Given the description of an element on the screen output the (x, y) to click on. 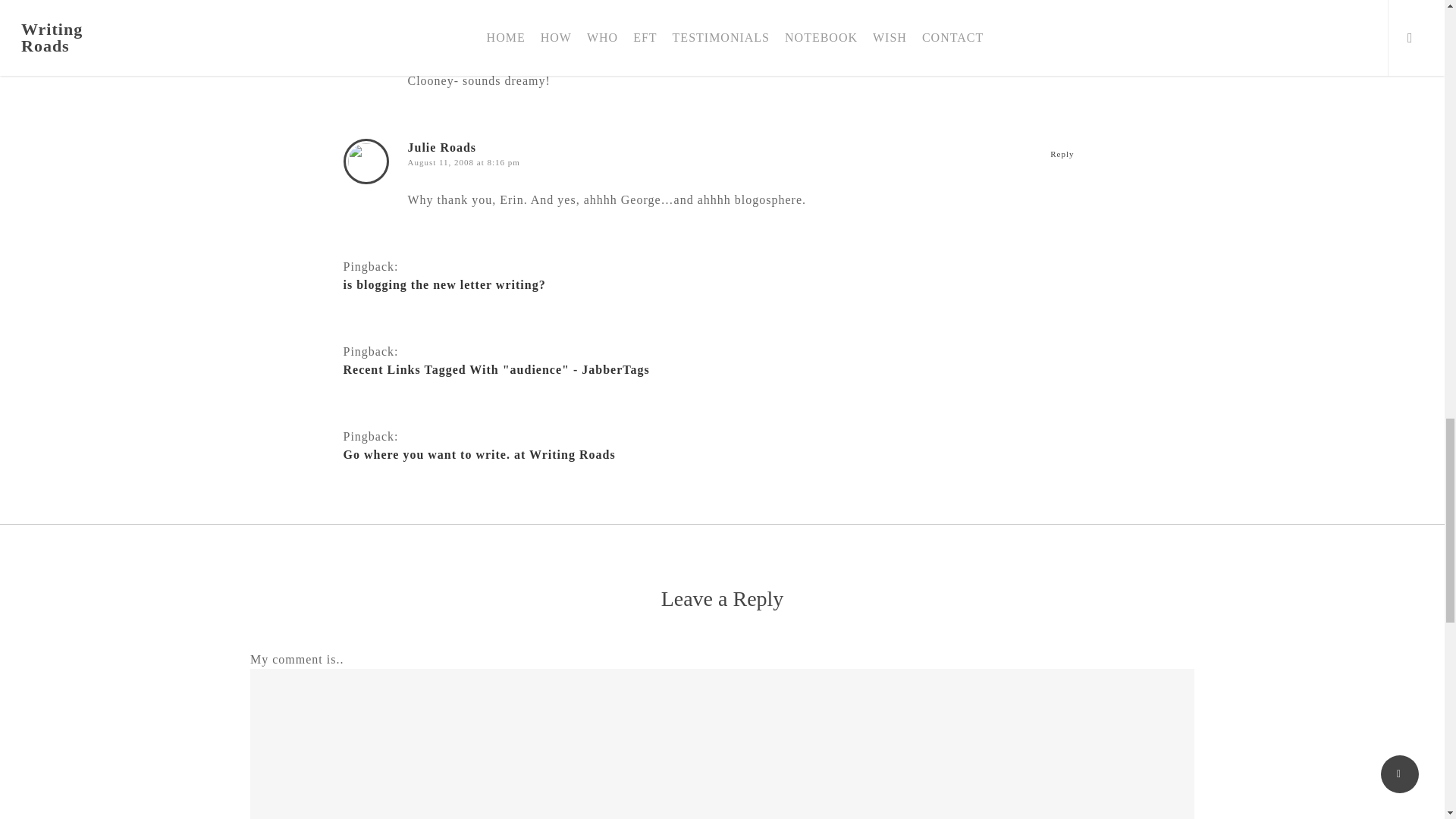
Go where you want to write. at Writing Roads (711, 454)
Recent Links Tagged With "audience" - JabberTags (711, 370)
Reply (1061, 2)
August 11, 2008 at 8:16 pm (463, 162)
August 11, 2008 at 6:33 pm (463, 6)
Reply (1061, 153)
is blogging the new letter writing? (711, 285)
